Given the description of an element on the screen output the (x, y) to click on. 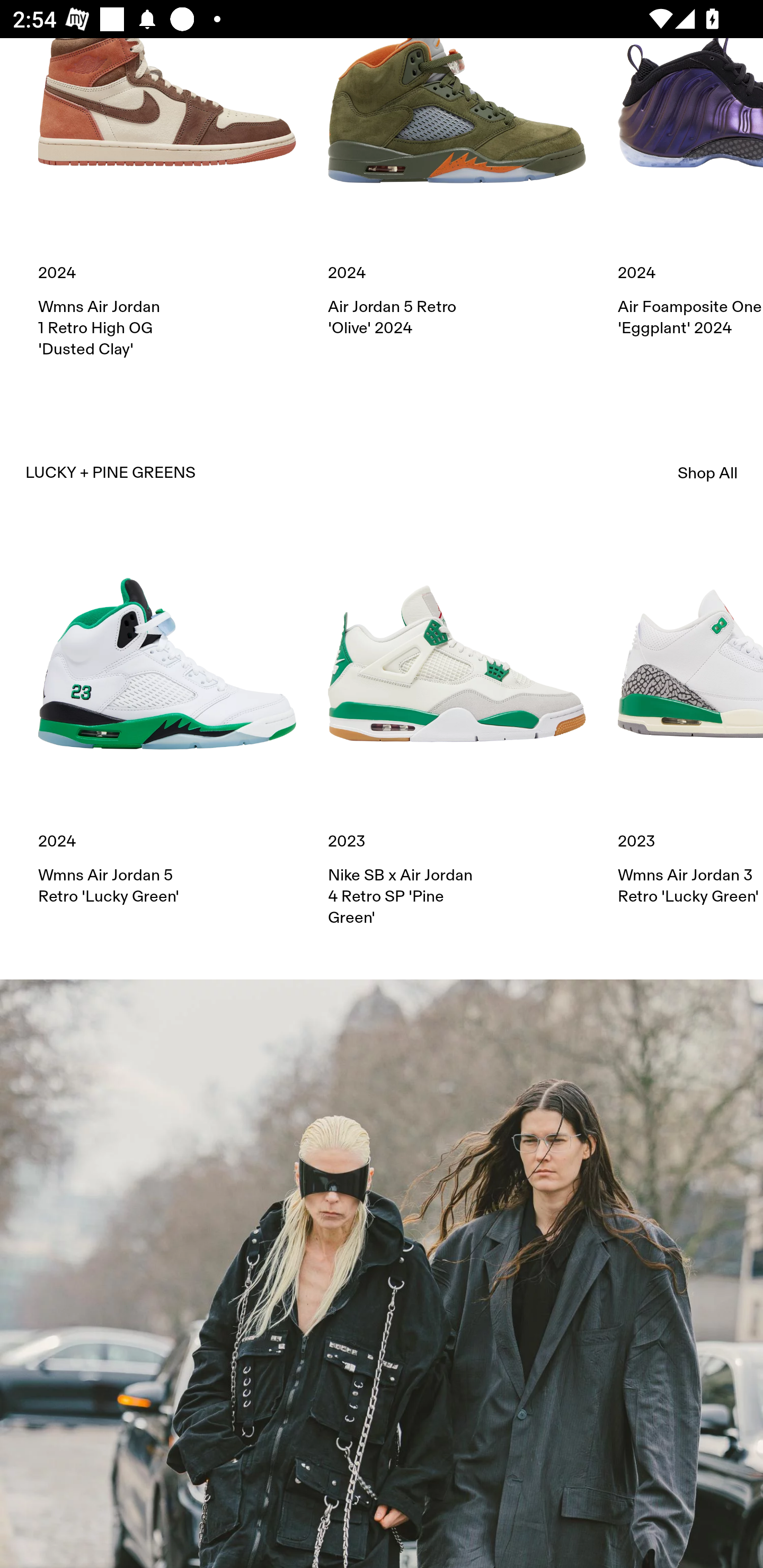
2024 Wmns Air Jordan 1 Retro High OG 'Dusted Clay' (167, 198)
2024 Air Jordan 5 Retro 'Olive' 2024 (456, 187)
2024 Air Foamposite One 'Eggplant' 2024 (690, 187)
Shop All (707, 472)
2024 Wmns Air Jordan 5 Retro 'Lucky Green' (167, 720)
2023 Nike SB x Air Jordan 4 Retro SP 'Pine Green' (456, 731)
2023 Wmns Air Jordan 3 Retro 'Lucky Green' (690, 720)
